Given the description of an element on the screen output the (x, y) to click on. 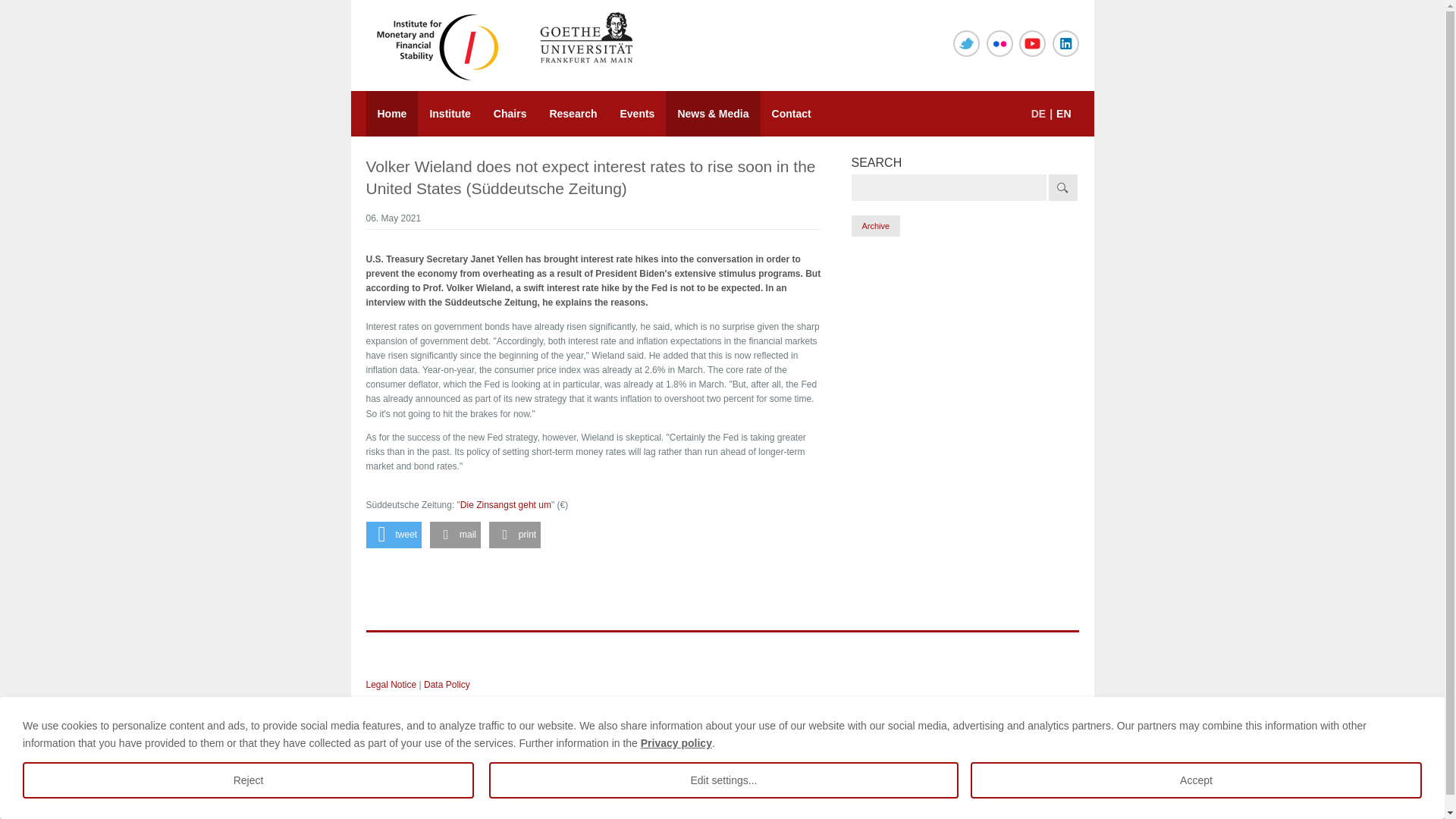
Institute (449, 113)
Home (391, 113)
Chairs (509, 113)
Home (391, 113)
Institute (449, 113)
